Given the description of an element on the screen output the (x, y) to click on. 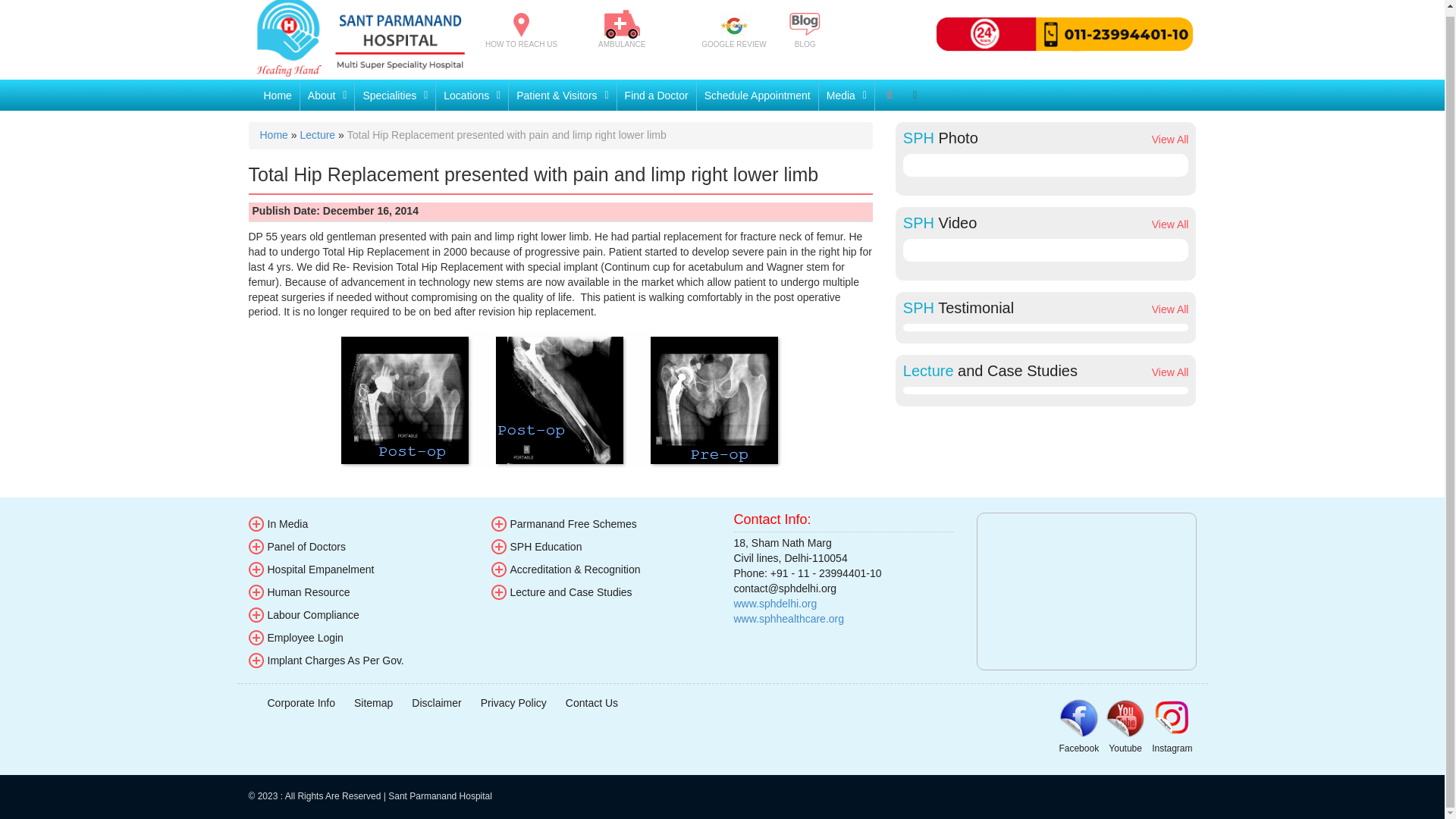
GOOGLE REVIEW (734, 30)
AMBULANCE (621, 29)
Specialities (395, 94)
Home (277, 94)
HOW TO REACH US (520, 30)
About (327, 94)
BLOG (804, 29)
